Given the description of an element on the screen output the (x, y) to click on. 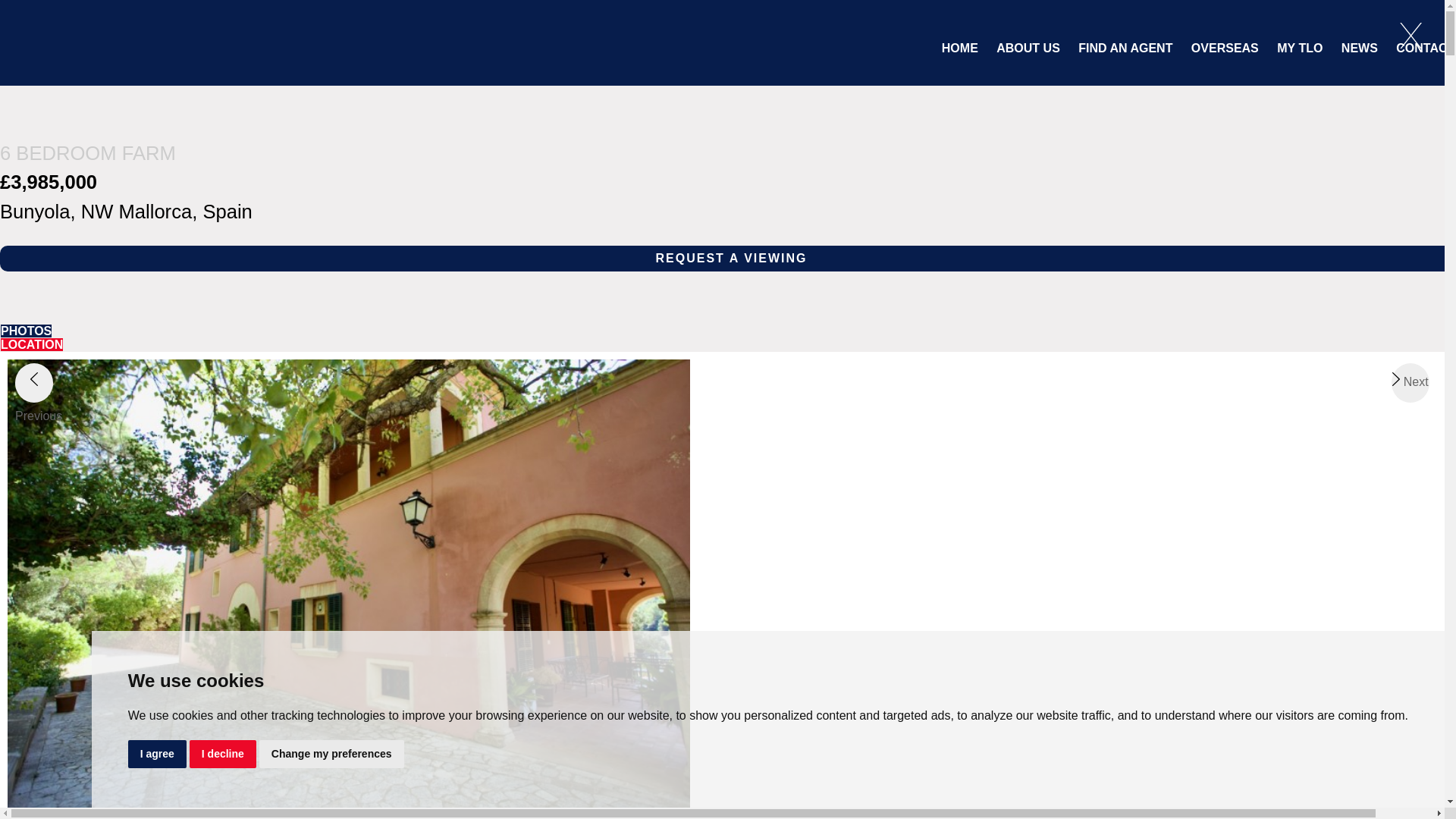
CONTACT US (1426, 47)
Previous (33, 382)
NEWS (1358, 47)
HOME (960, 47)
REQUEST A VIEWING (728, 258)
I decline (222, 754)
Change my preferences (331, 754)
Next (1410, 382)
PHOTOS (25, 330)
FIND AN AGENT (1125, 47)
LOCATION (31, 344)
MY TLO (1299, 47)
OVERSEAS (1225, 47)
I agree (157, 754)
ABOUT US (1027, 47)
